Given the description of an element on the screen output the (x, y) to click on. 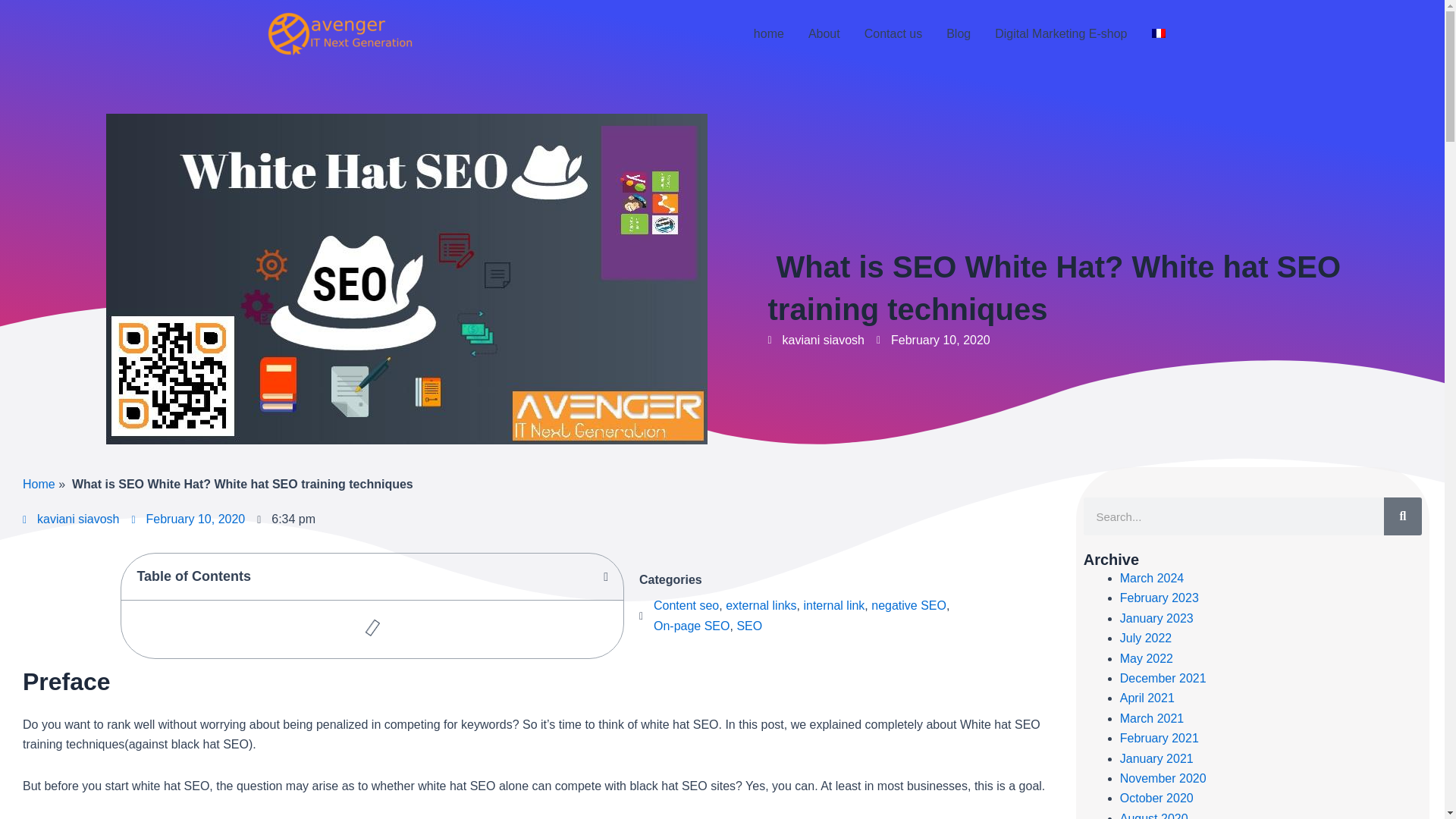
home (768, 34)
internal link (833, 604)
Digital Marketing E-shop (1060, 34)
On-page SEO (691, 625)
About (823, 34)
Contact us (892, 34)
February 10, 2020 (189, 519)
Content seo (686, 604)
February 10, 2020 (933, 340)
Blog (958, 34)
SEO (748, 625)
Home (39, 483)
kaviani siavosh (71, 519)
negative SEO (908, 604)
external links (760, 604)
